Given the description of an element on the screen output the (x, y) to click on. 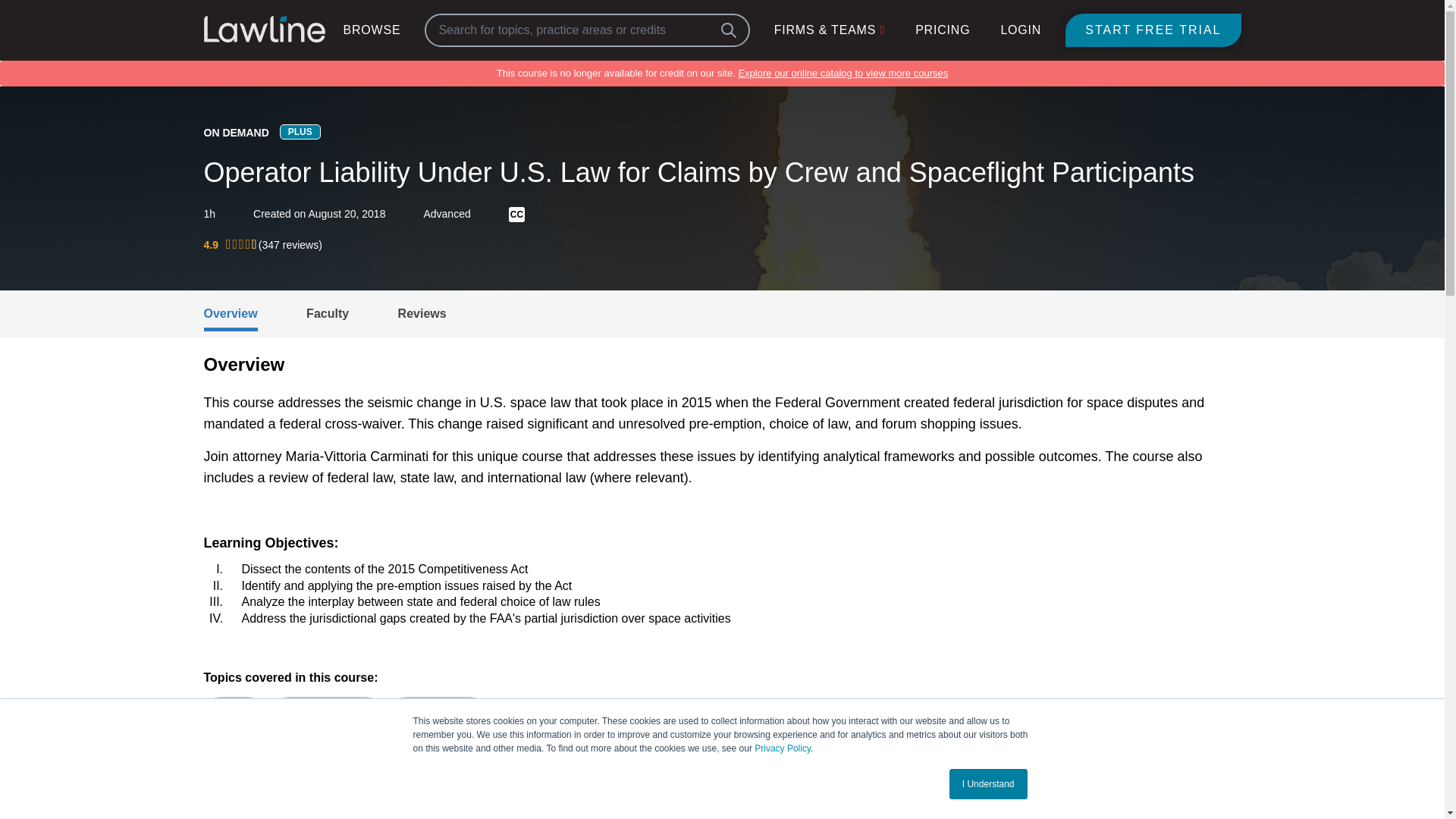
Faculty (327, 313)
Reviews (421, 313)
Aviation (233, 713)
Privacy Policy (782, 747)
Overview (230, 319)
Transportation (438, 713)
Explore our online catalog to view more courses (842, 72)
LOGIN (1020, 30)
START FREE TRIAL (1152, 29)
BROWSE (371, 29)
PRICING (941, 30)
CONTACT (590, 798)
Operator Liability (326, 713)
I Understand (988, 784)
